Given the description of an element on the screen output the (x, y) to click on. 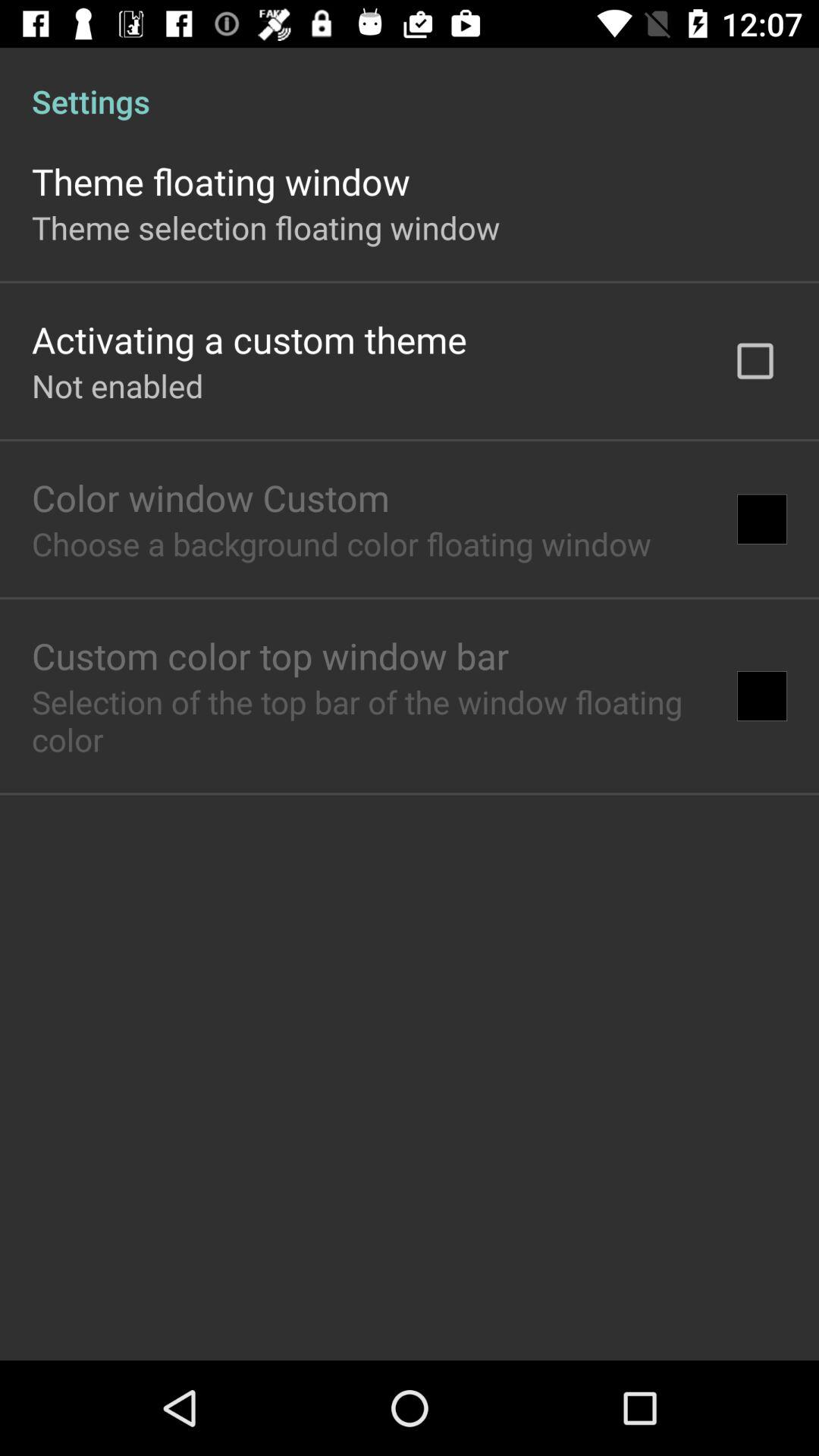
jump until settings (409, 84)
